Given the description of an element on the screen output the (x, y) to click on. 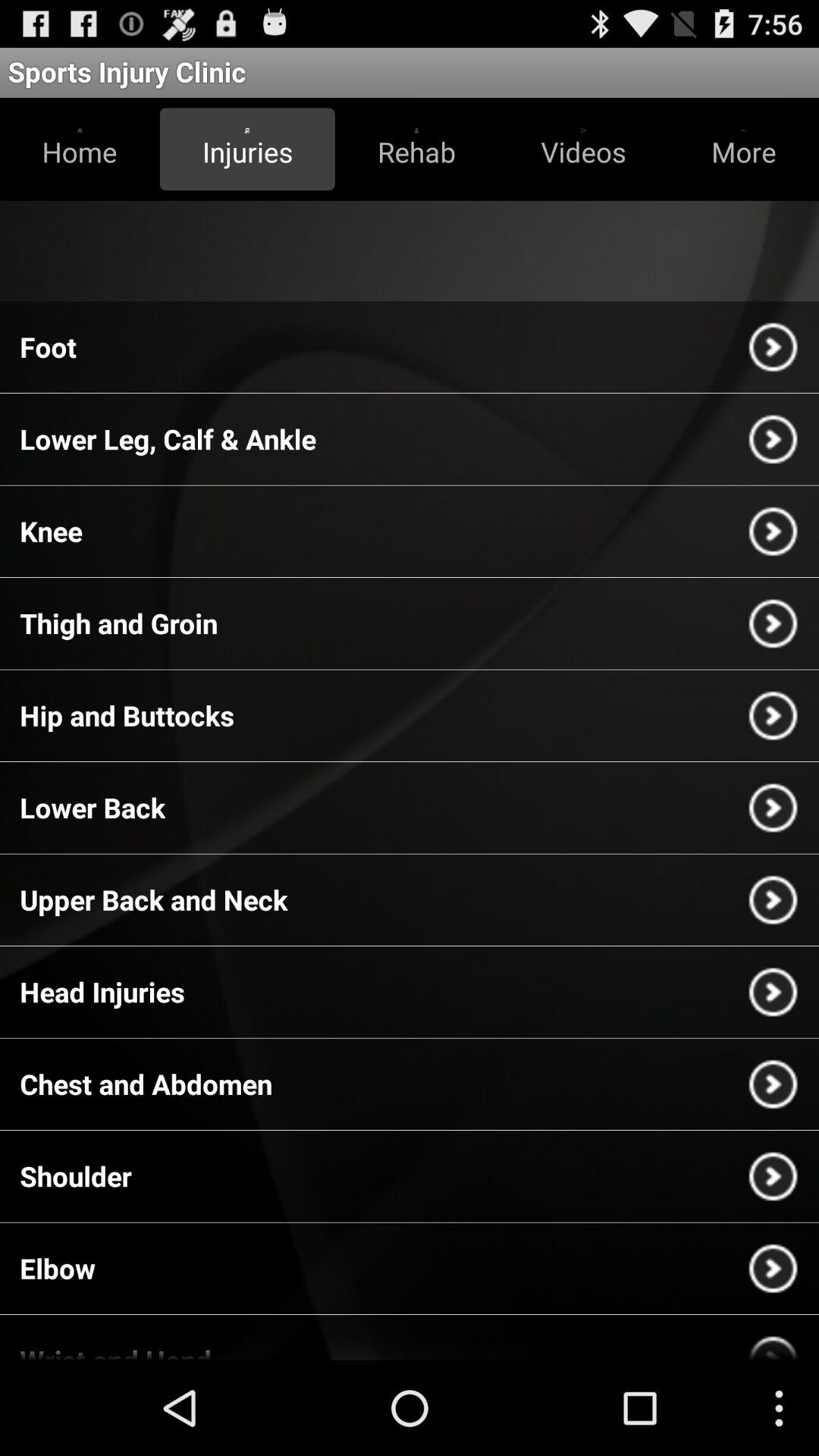
tap the wrist and hand (115, 1350)
